Given the description of an element on the screen output the (x, y) to click on. 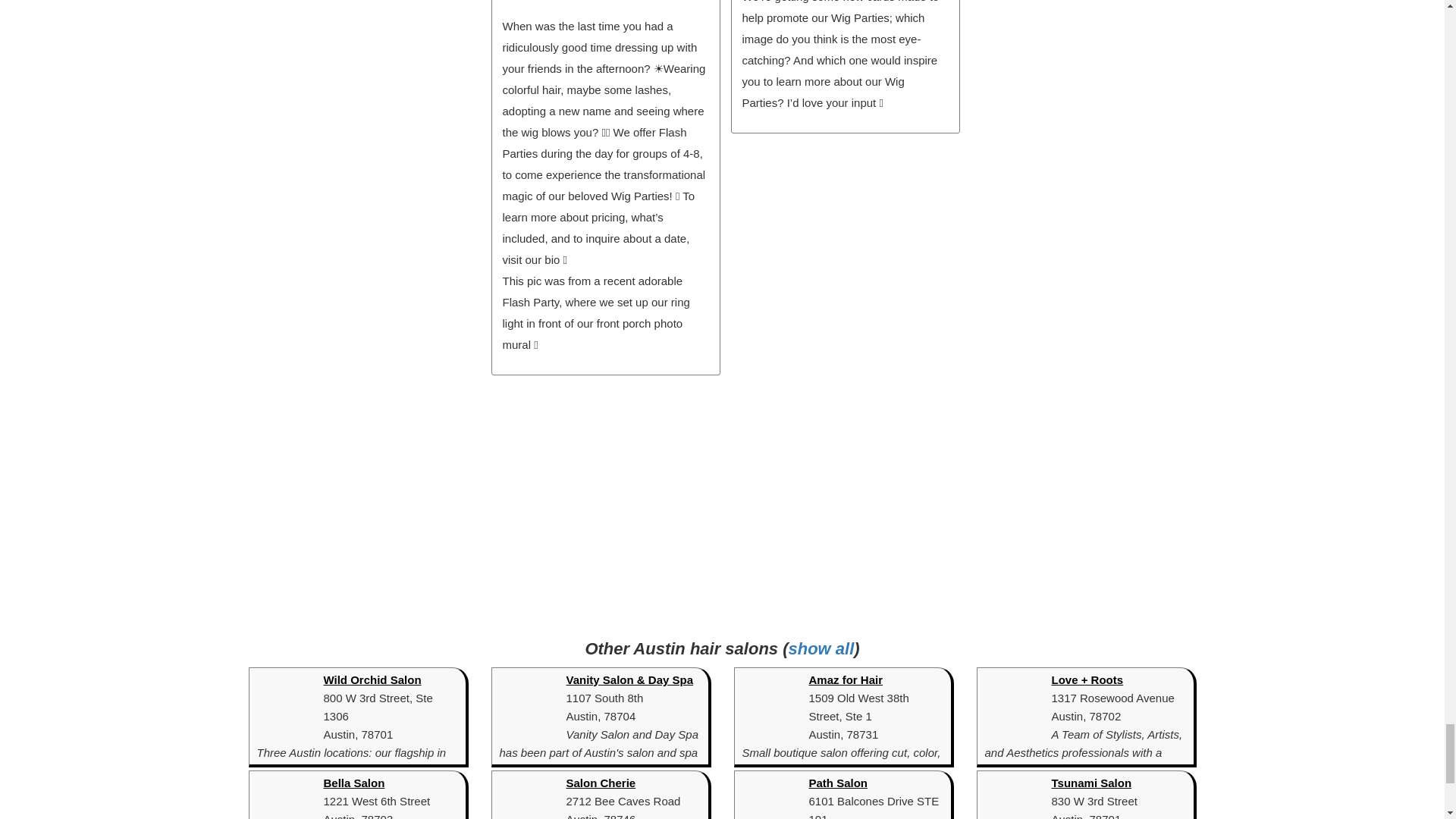
Amaz for Hair (845, 679)
show all (821, 648)
Wild Orchid Salon (371, 679)
Bella Salon (353, 782)
